Given the description of an element on the screen output the (x, y) to click on. 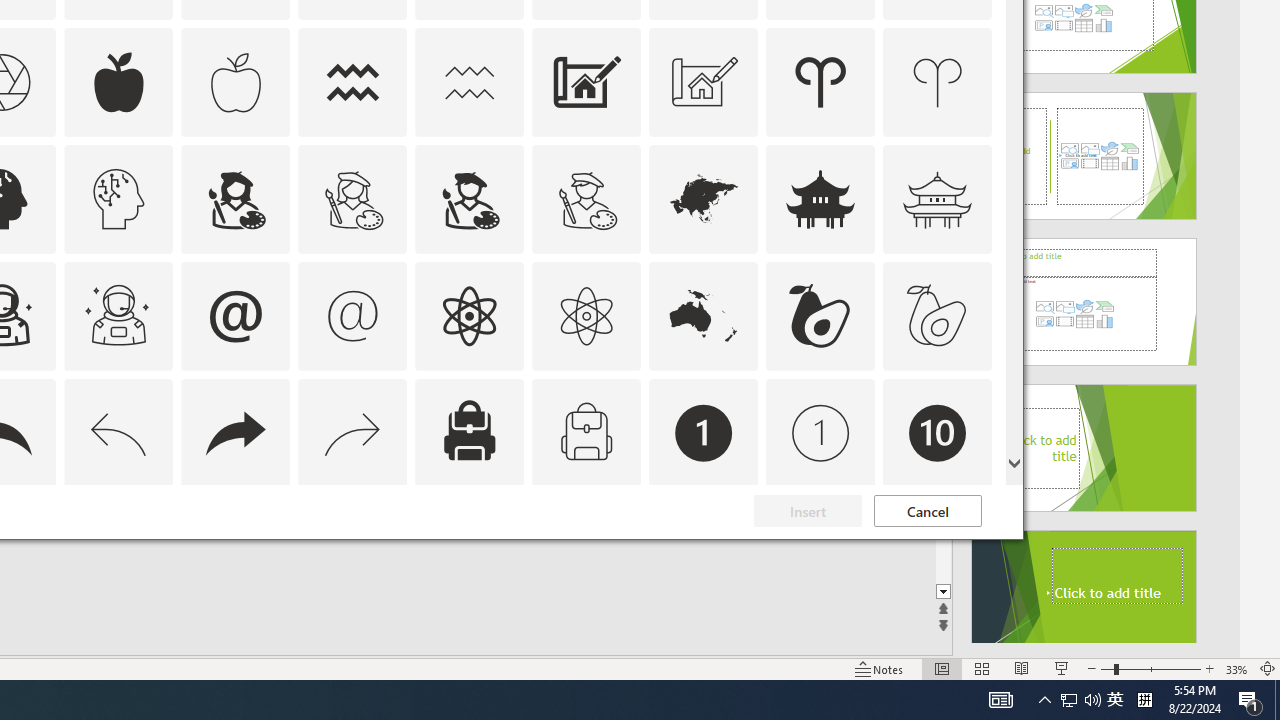
AutomationID: Icons_Back_RTL_M (353, 432)
Zoom 33% (1236, 668)
AutomationID: Icons_ArtistMale (469, 198)
AutomationID: Icons_Backpack_M (586, 432)
AutomationID: Icons_Badge1 (703, 432)
AutomationID: Icons_Badge9 (820, 550)
Thumbnail (977, 511)
AutomationID: Icons_Asia (703, 198)
Action Center, 1 new notification (1250, 699)
